Given the description of an element on the screen output the (x, y) to click on. 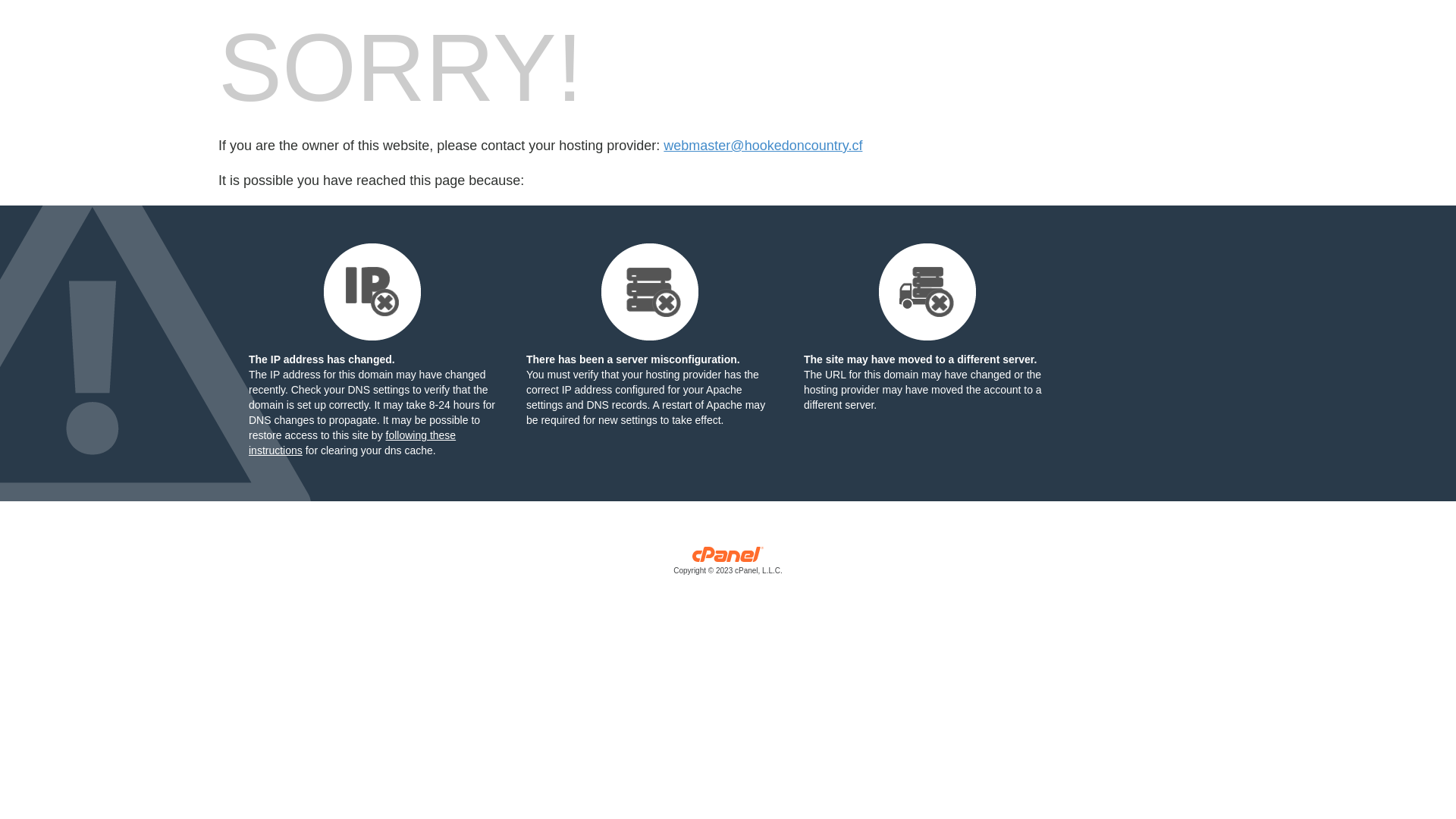
following these instructions Element type: text (351, 442)
webmaster@hookedoncountry.cf Element type: text (762, 145)
